Given the description of an element on the screen output the (x, y) to click on. 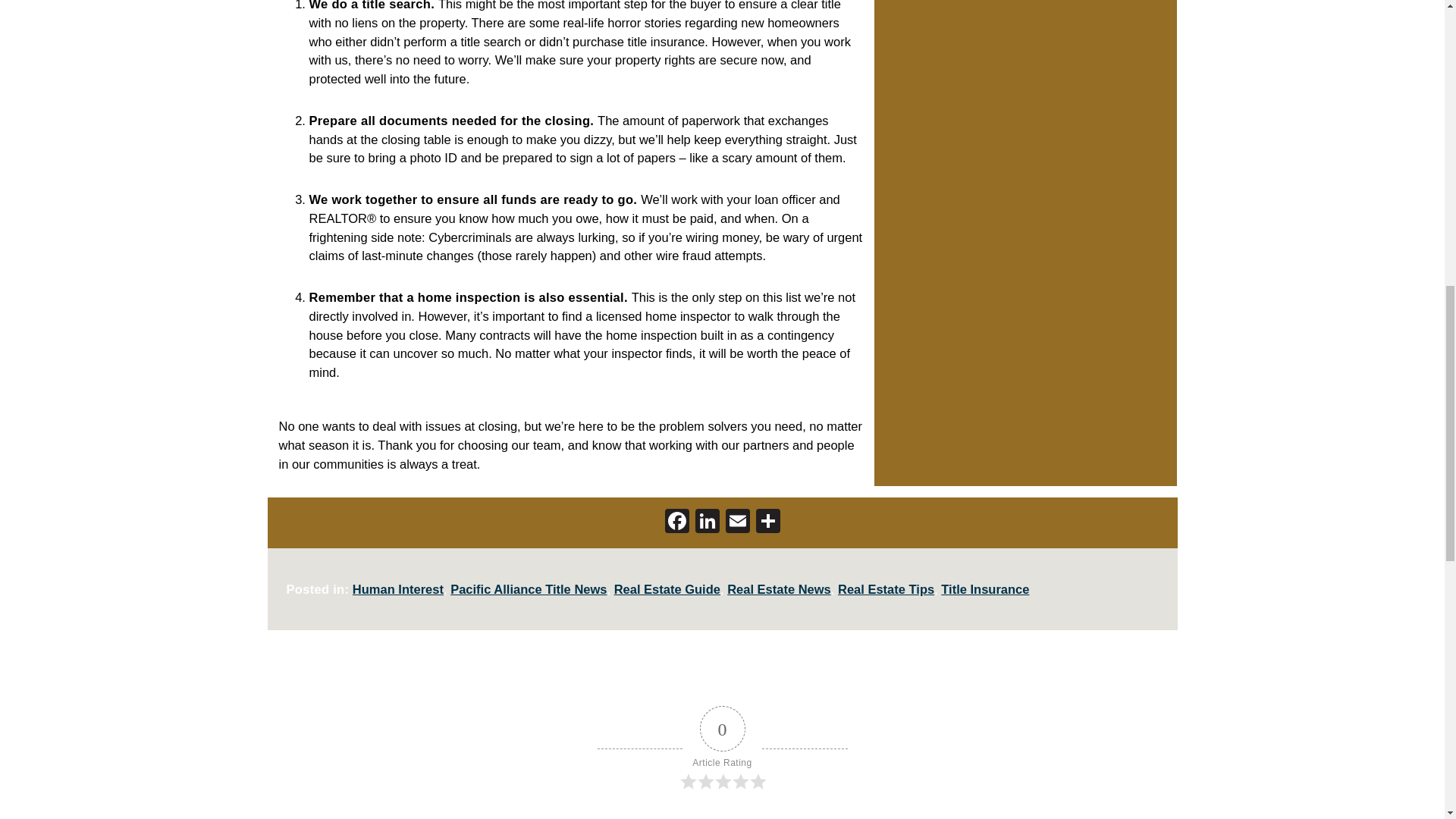
Facebook (676, 522)
Email (737, 522)
LinkedIn (706, 522)
